Given the description of an element on the screen output the (x, y) to click on. 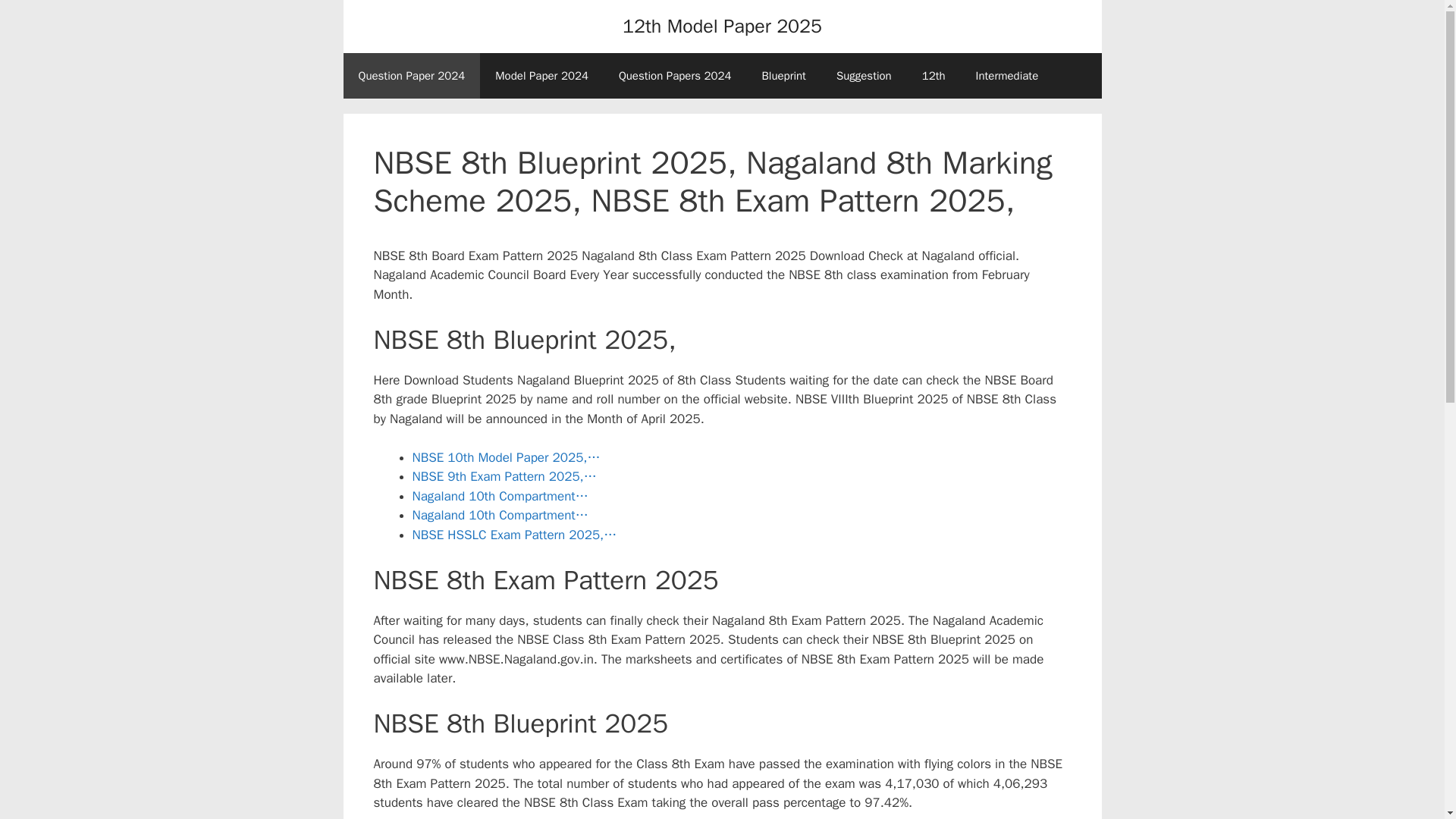
12th Model Paper 2025 (722, 25)
Model Paper 2024 (542, 75)
Question Papers 2024 (675, 75)
12th (933, 75)
Intermediate (1007, 75)
Question Paper 2024 (411, 75)
Suggestion (864, 75)
Blueprint (783, 75)
